Given the description of an element on the screen output the (x, y) to click on. 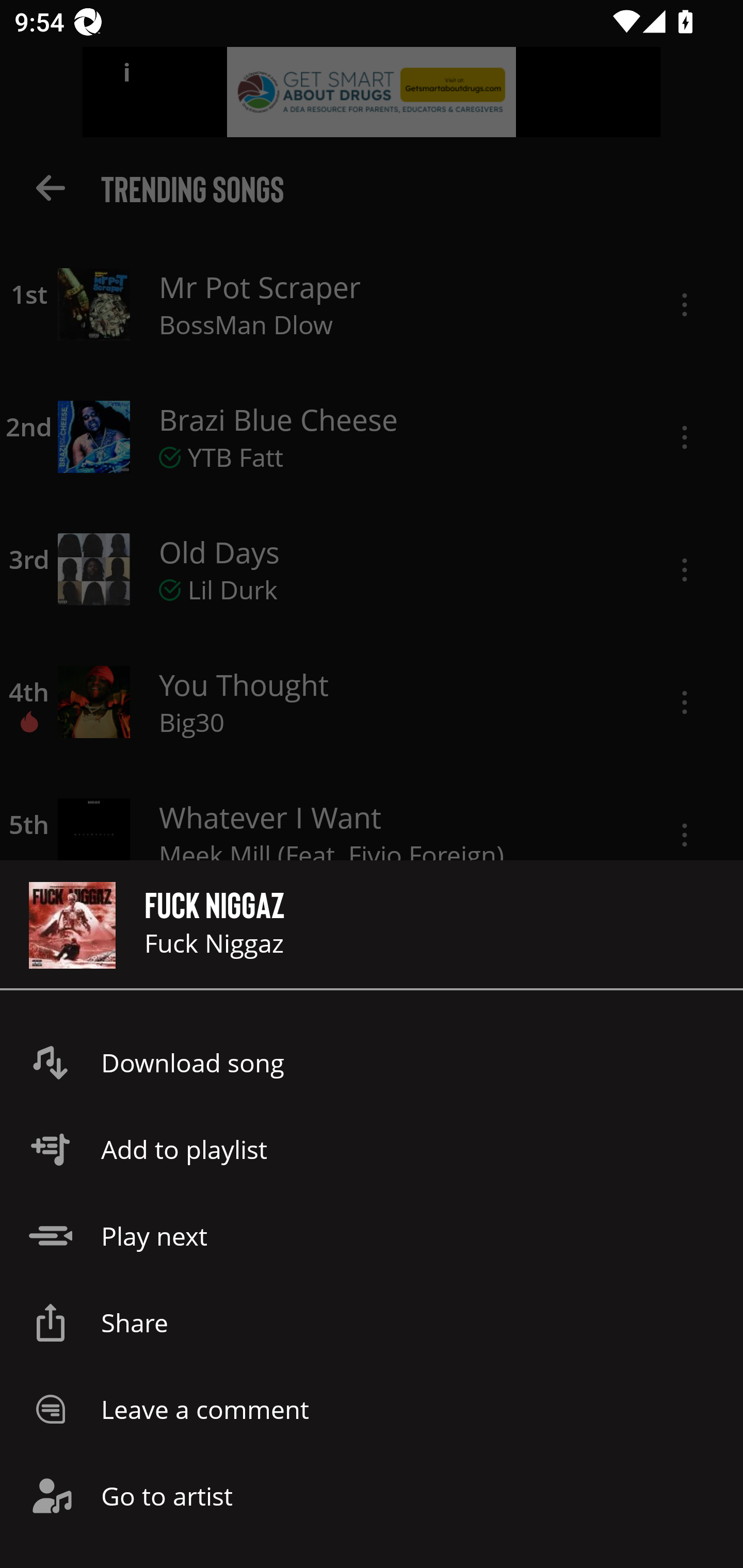
Download song (371, 1062)
Add to playlist (371, 1149)
Play next (371, 1236)
Share (371, 1322)
Leave a comment (371, 1408)
Go to artist (371, 1495)
